Given the description of an element on the screen output the (x, y) to click on. 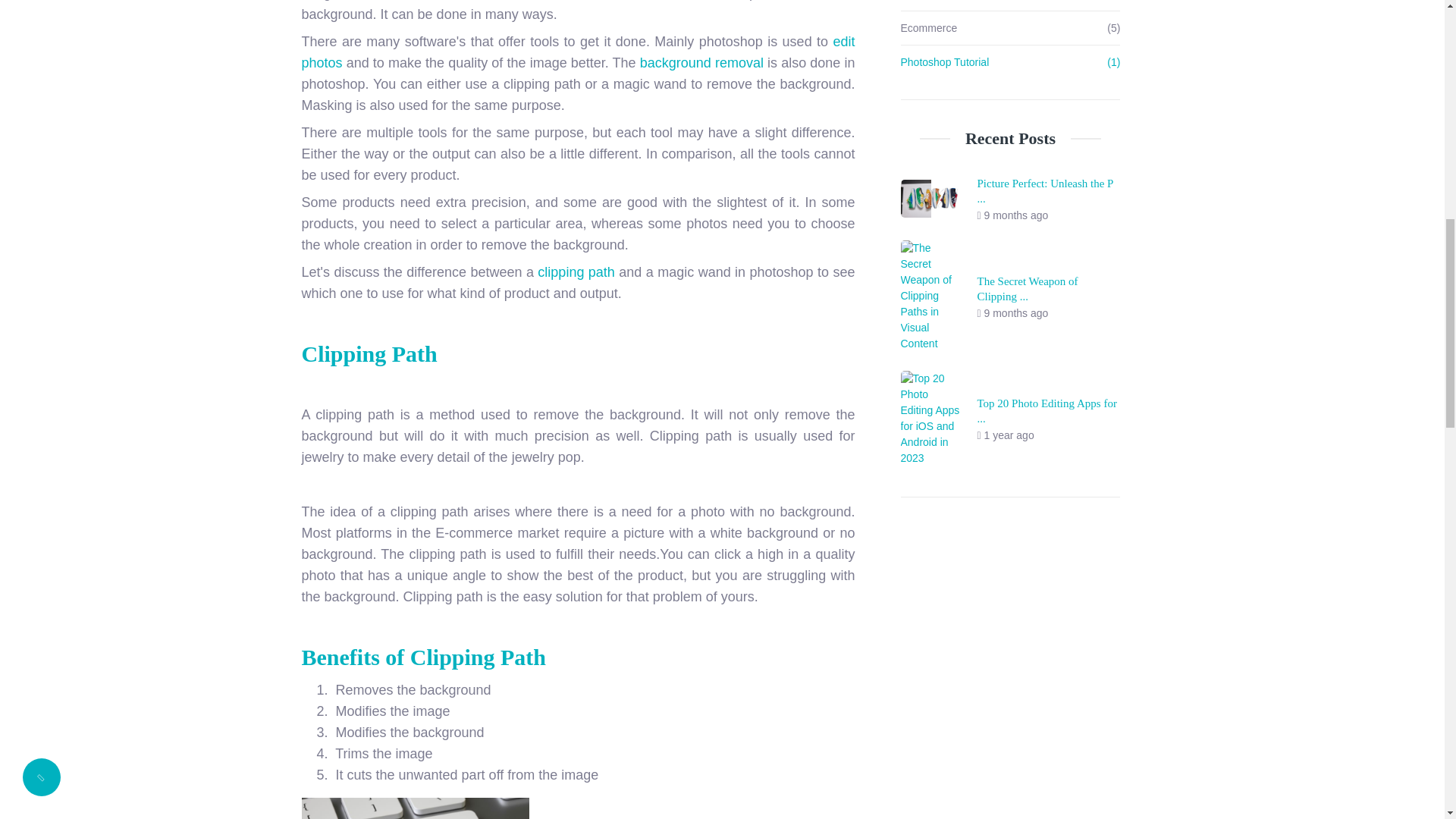
edit photos (578, 52)
background removal (701, 62)
clipping path services (415, 808)
clipping path (575, 272)
